Given the description of an element on the screen output the (x, y) to click on. 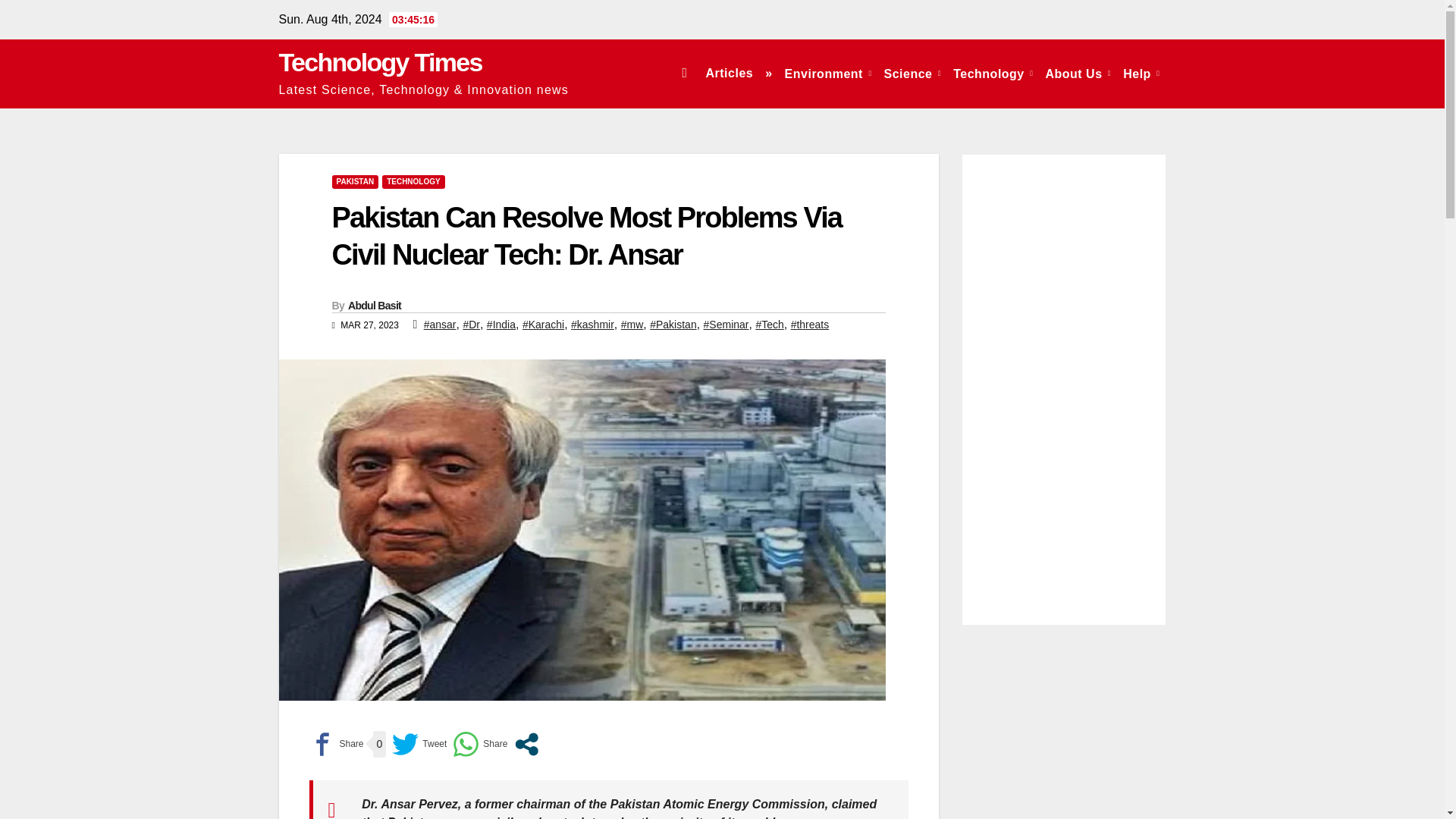
Environment (827, 73)
Environment (827, 73)
Science (912, 73)
Technology (993, 73)
About Us (1077, 73)
Technology Times (380, 61)
Technology (993, 73)
Science (912, 73)
